Given the description of an element on the screen output the (x, y) to click on. 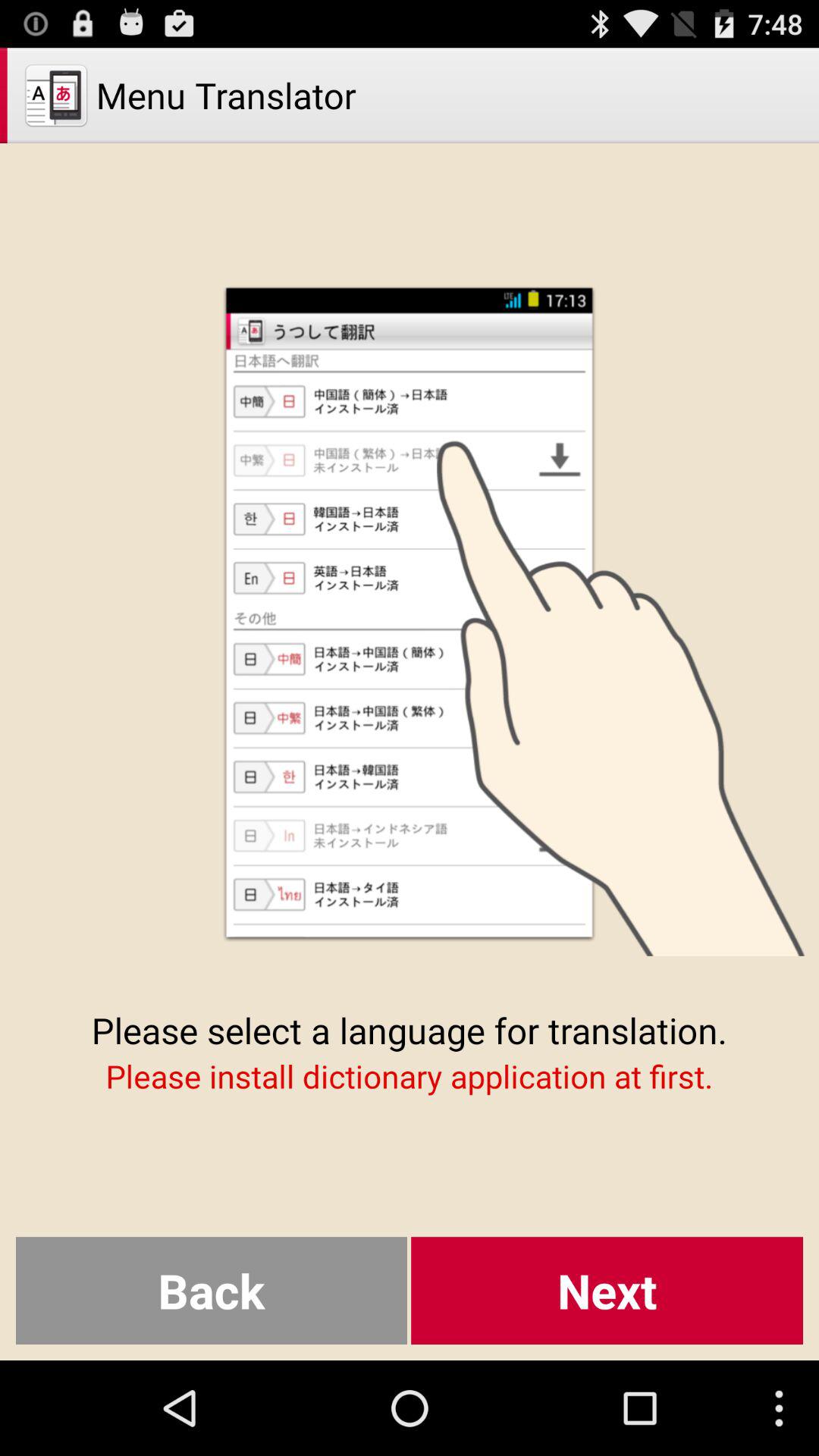
press item below please install dictionary (607, 1290)
